Given the description of an element on the screen output the (x, y) to click on. 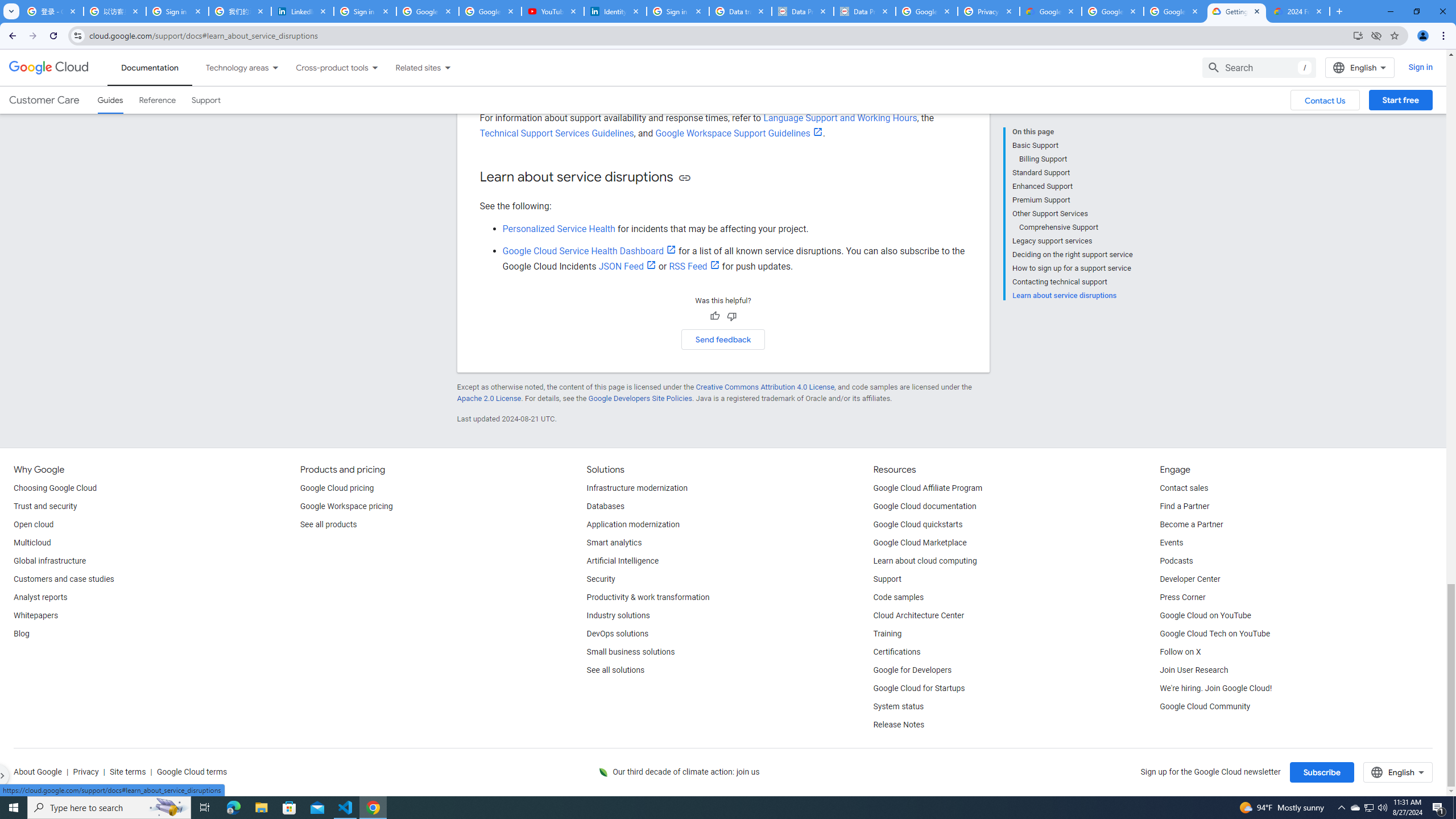
How to sign up for a support service (1071, 268)
Google Cloud for Startups (919, 688)
Dropdown menu for Related sites (447, 67)
Google Cloud terms (191, 772)
Google Workspace - Specific Terms (1111, 11)
Contacting technical support (1071, 282)
Start free (1400, 100)
Learn about cloud computing (924, 561)
Site terms (127, 772)
Personalized Service Health (558, 228)
Google Cloud Community (1204, 706)
Find a Partner (1183, 506)
